Given the description of an element on the screen output the (x, y) to click on. 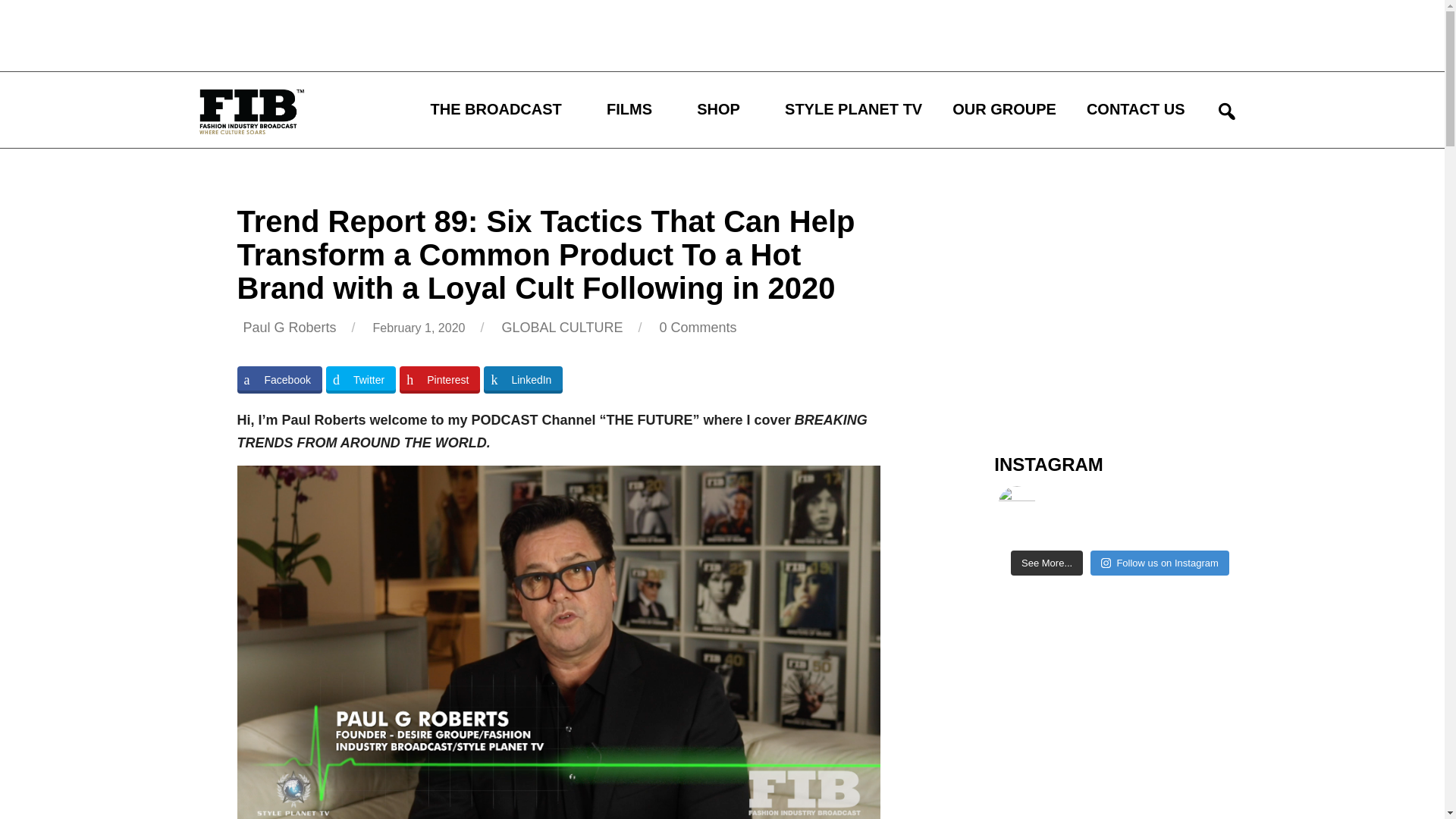
Twitter (361, 379)
February 1, 2020 (418, 327)
Pinterest (439, 379)
Facebook (278, 379)
GLOBAL CULTURE (561, 327)
0 Comments (694, 327)
View all posts by Paul G Roberts (289, 327)
Share on LinkedIn (522, 379)
OUR GROUPE (1004, 109)
